Given the description of an element on the screen output the (x, y) to click on. 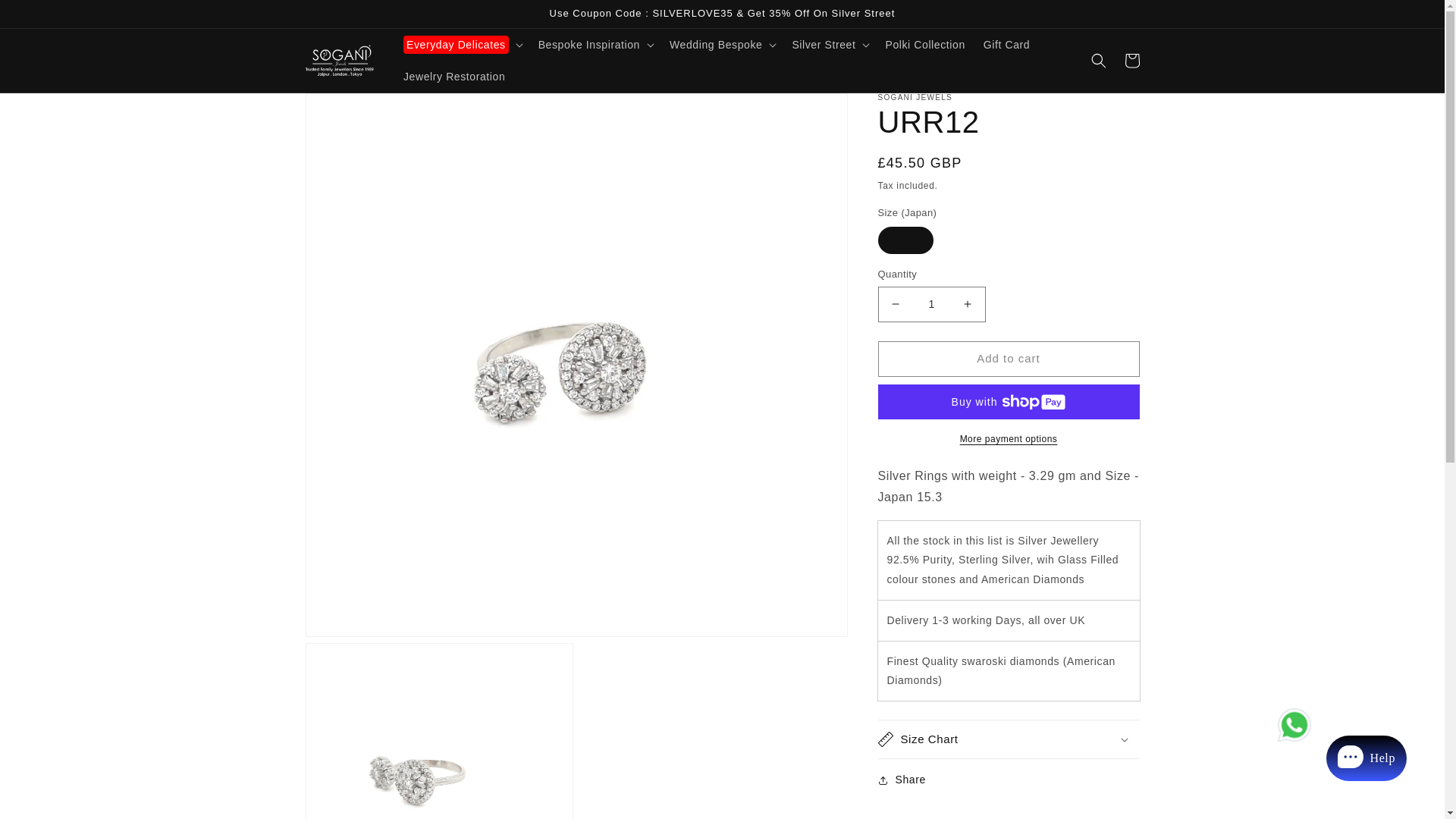
1 (931, 304)
Skip to content (45, 17)
